Given the description of an element on the screen output the (x, y) to click on. 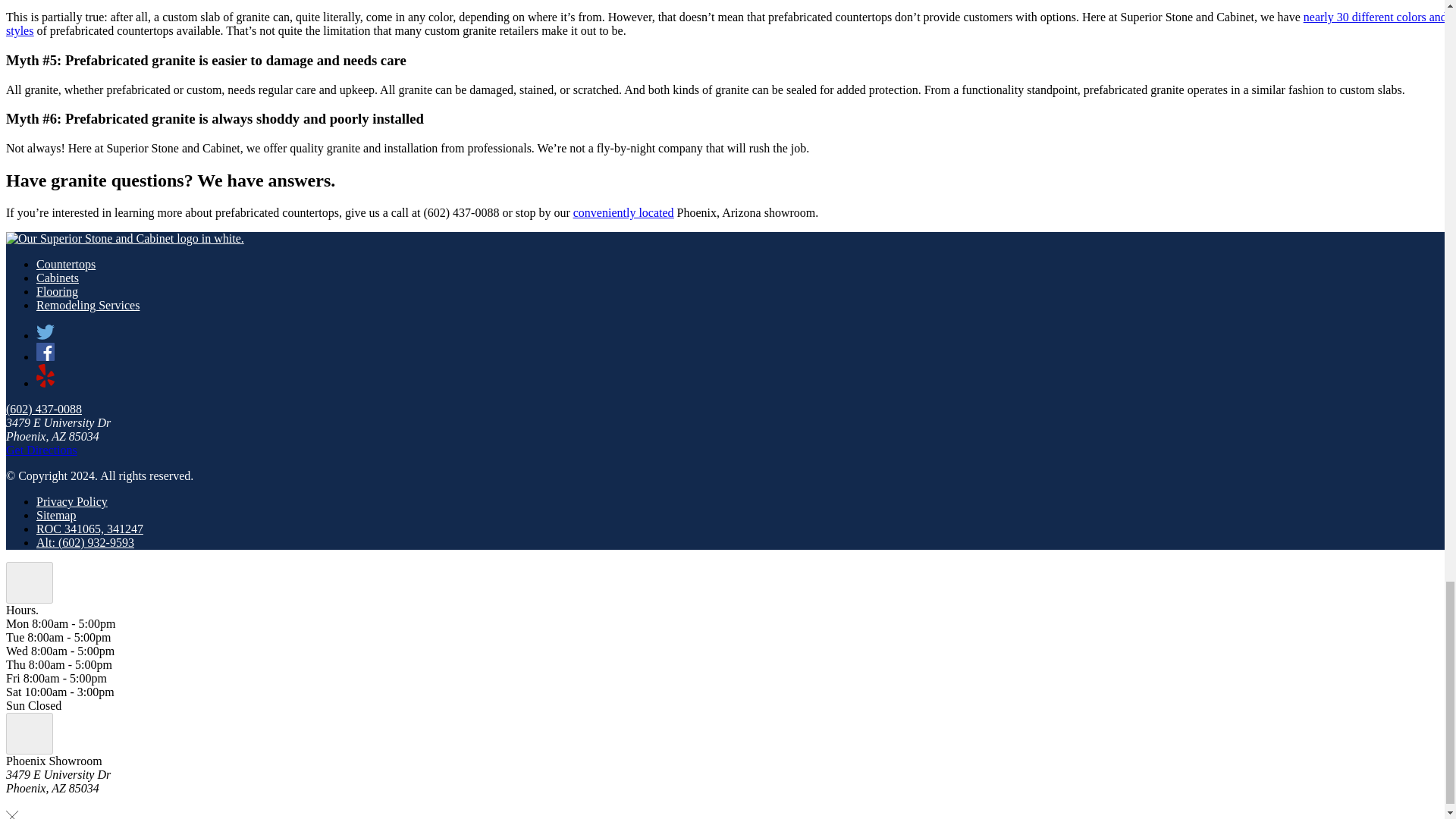
Call Phoenix Showroom now. (43, 408)
